Given the description of an element on the screen output the (x, y) to click on. 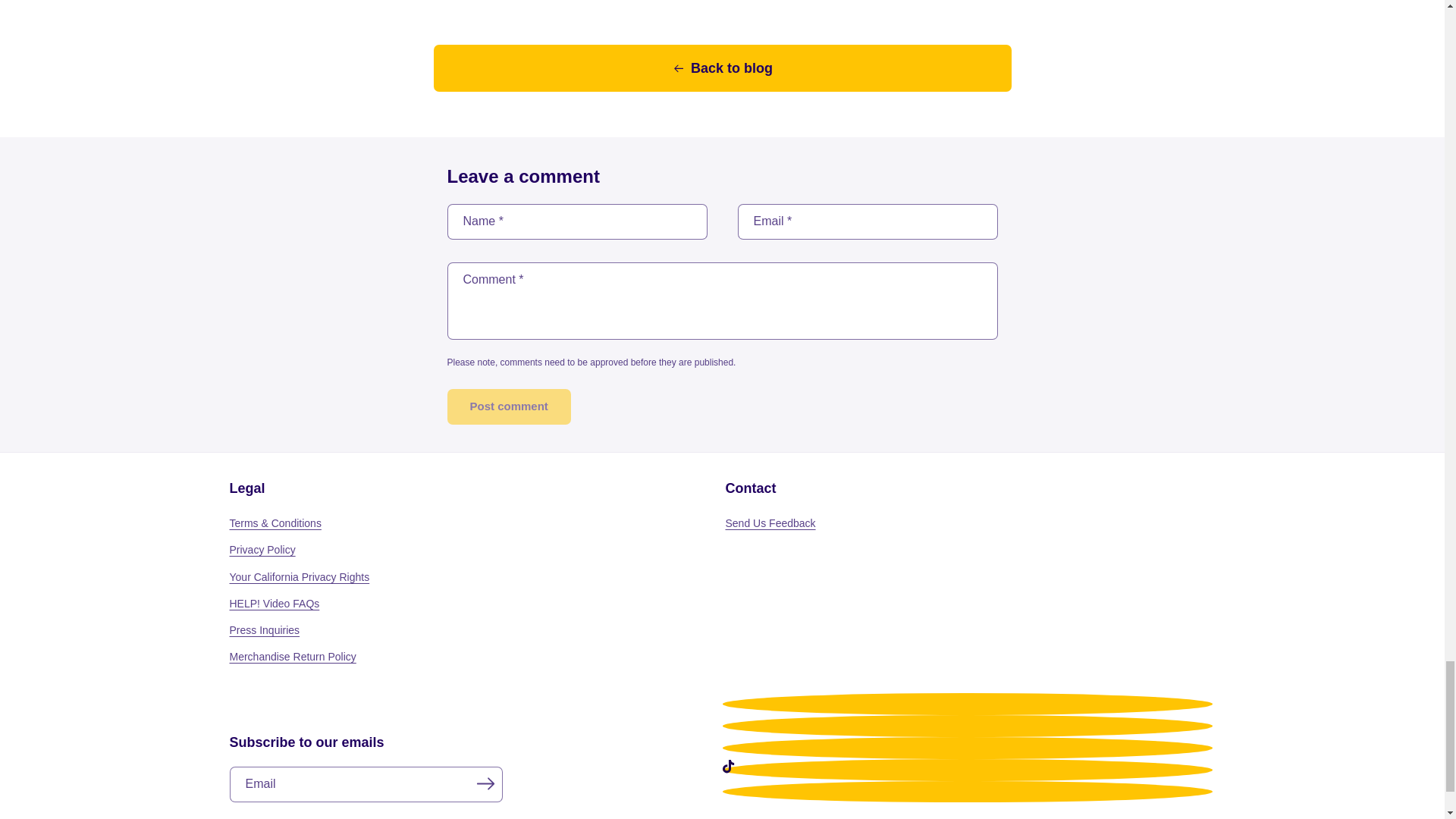
Post comment (508, 407)
